Given the description of an element on the screen output the (x, y) to click on. 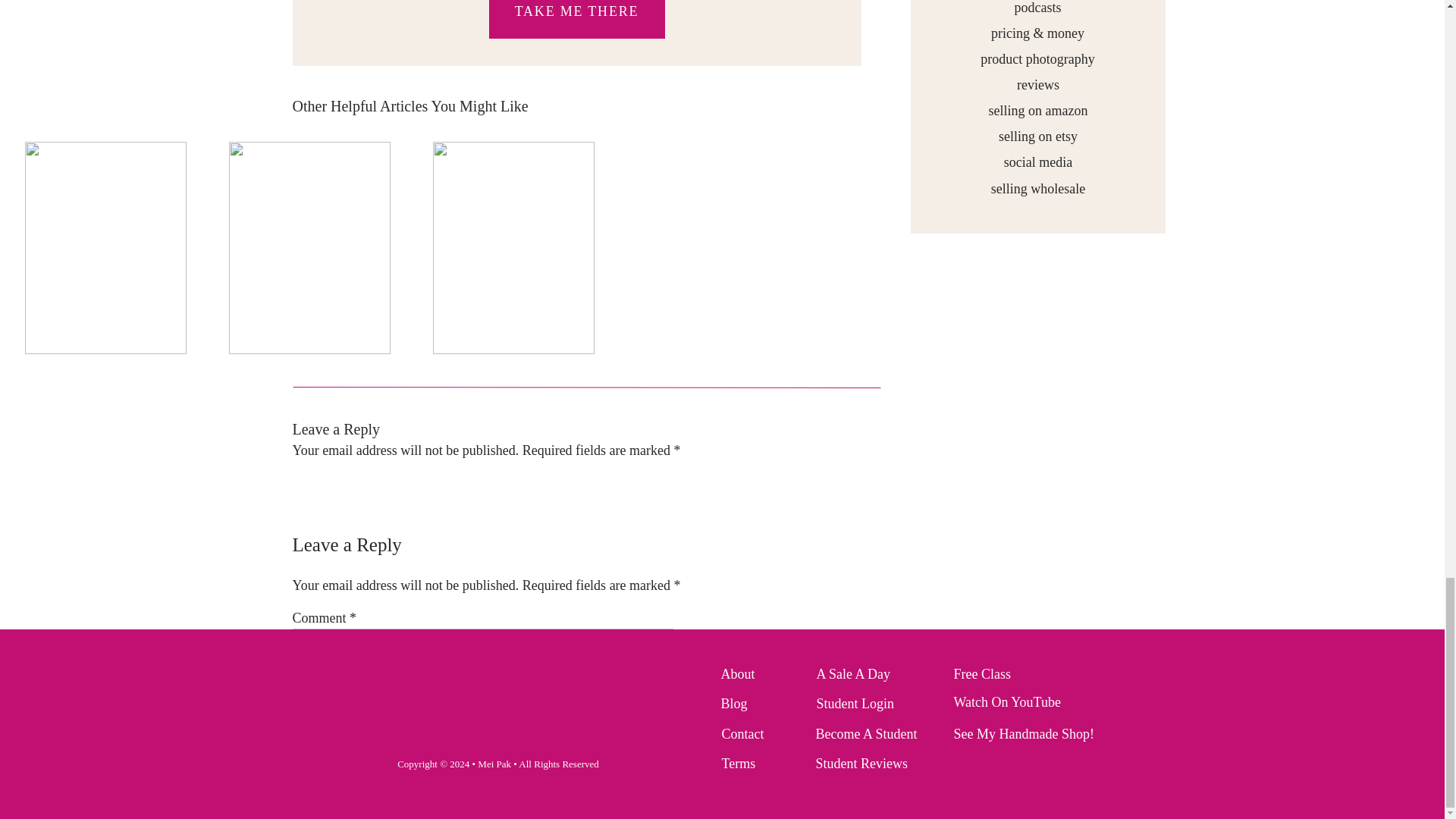
product photography (1037, 57)
reviews (1037, 83)
thesprucecrafts.com (610, 579)
website (648, 546)
selling wholesale (1038, 187)
selling on amazon (1037, 108)
selling on etsy (1036, 135)
podcasts (1037, 7)
Tiana Coats (354, 505)
social media (1037, 160)
